Given the description of an element on the screen output the (x, y) to click on. 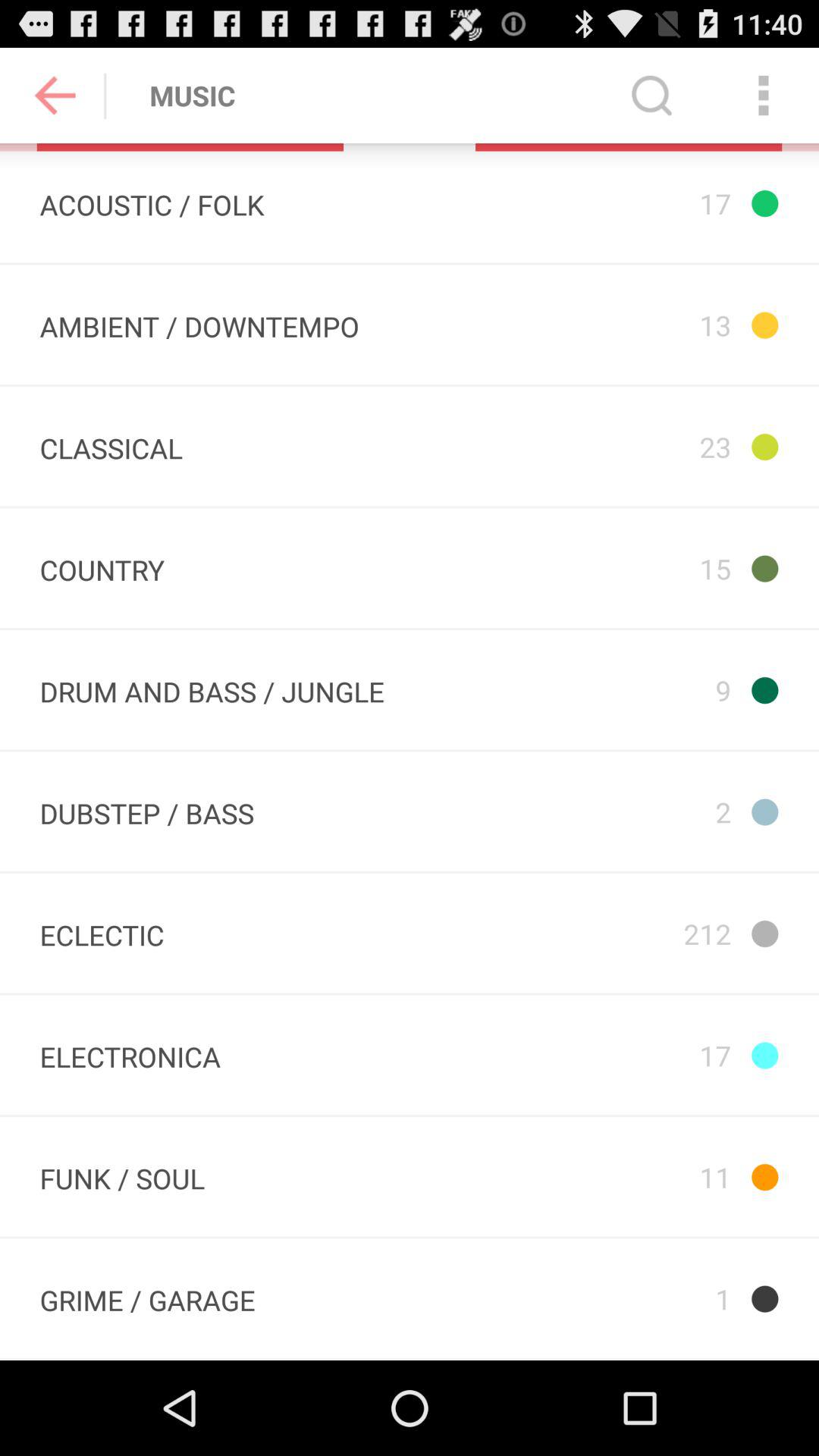
press the app to the left of the 11 icon (147, 1298)
